Given the description of an element on the screen output the (x, y) to click on. 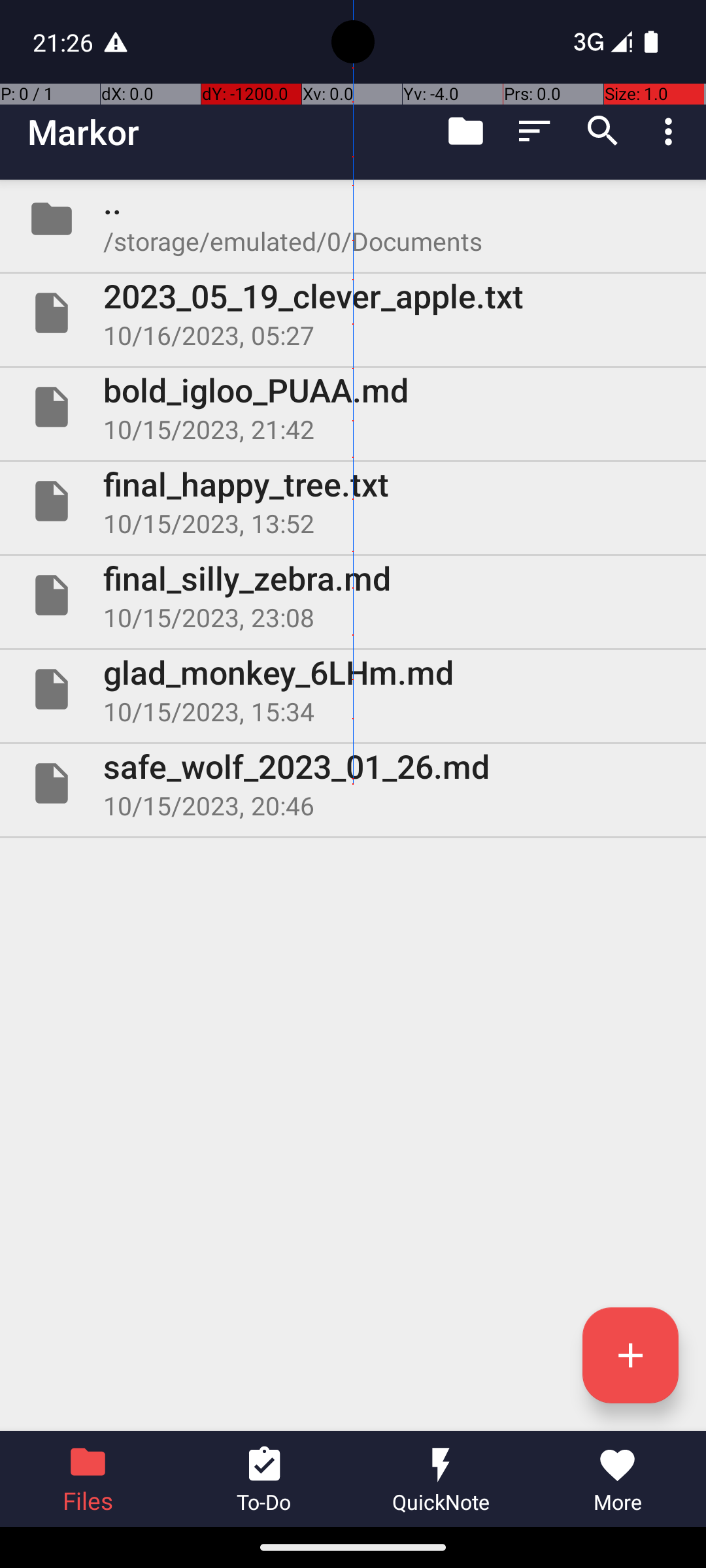
File 2023_05_19_clever_apple.txt  Element type: android.widget.LinearLayout (353, 312)
File bold_igloo_PUAA.md  Element type: android.widget.LinearLayout (353, 406)
File final_happy_tree.txt  Element type: android.widget.LinearLayout (353, 500)
File final_silly_zebra.md  Element type: android.widget.LinearLayout (353, 594)
File glad_monkey_6LHm.md  Element type: android.widget.LinearLayout (353, 689)
File safe_wolf_2023_01_26.md  Element type: android.widget.LinearLayout (353, 783)
21:26 Element type: android.widget.TextView (64, 41)
